Given the description of an element on the screen output the (x, y) to click on. 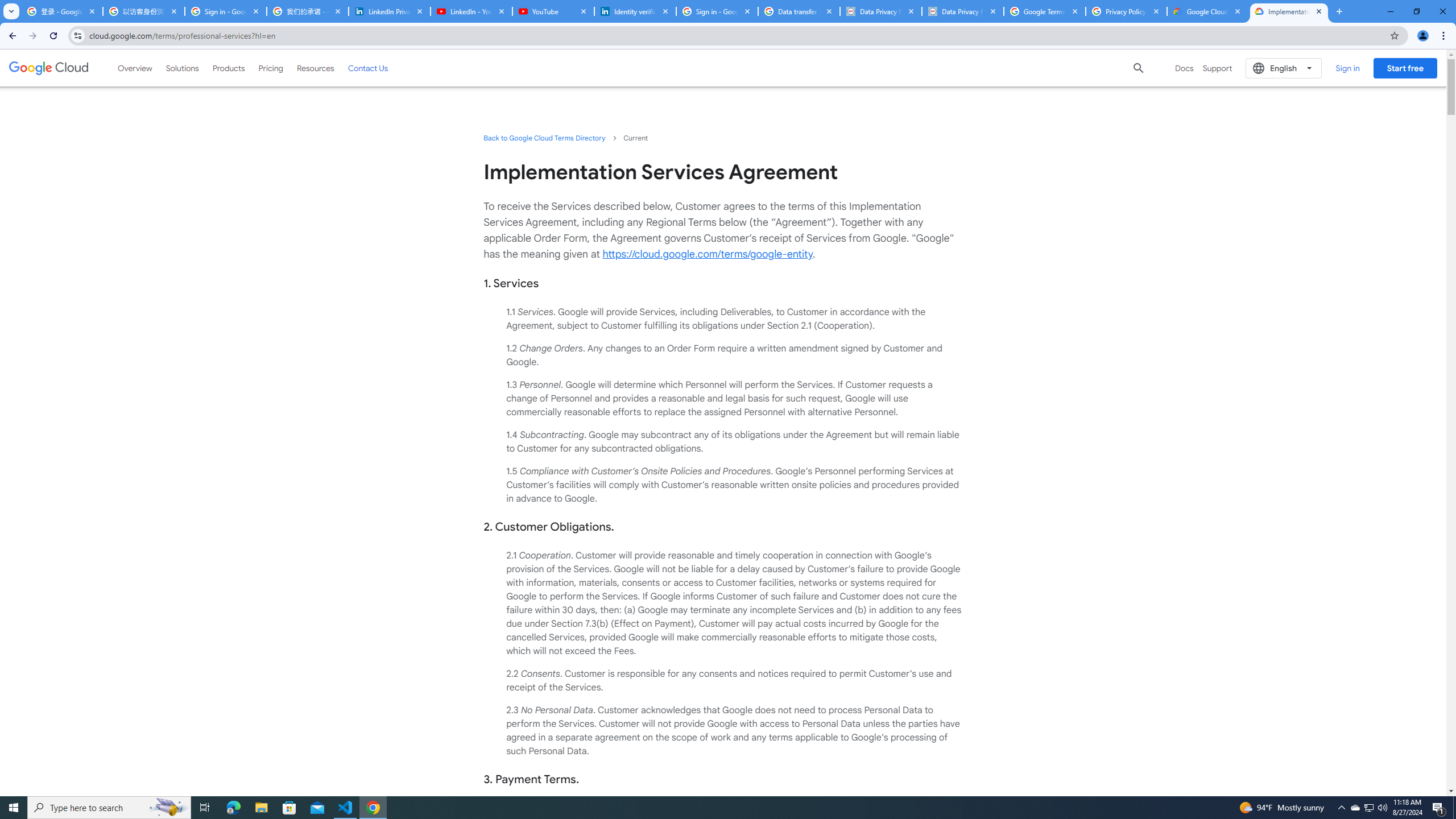
https://cloud.google.com/terms/google-entity (707, 254)
Implementation Services Agreement | Google Cloud (1289, 11)
Products (228, 67)
Contact Us (368, 67)
Docs (1183, 67)
Sign in - Google Accounts (225, 11)
Resources (314, 67)
Data Privacy Framework (880, 11)
